Given the description of an element on the screen output the (x, y) to click on. 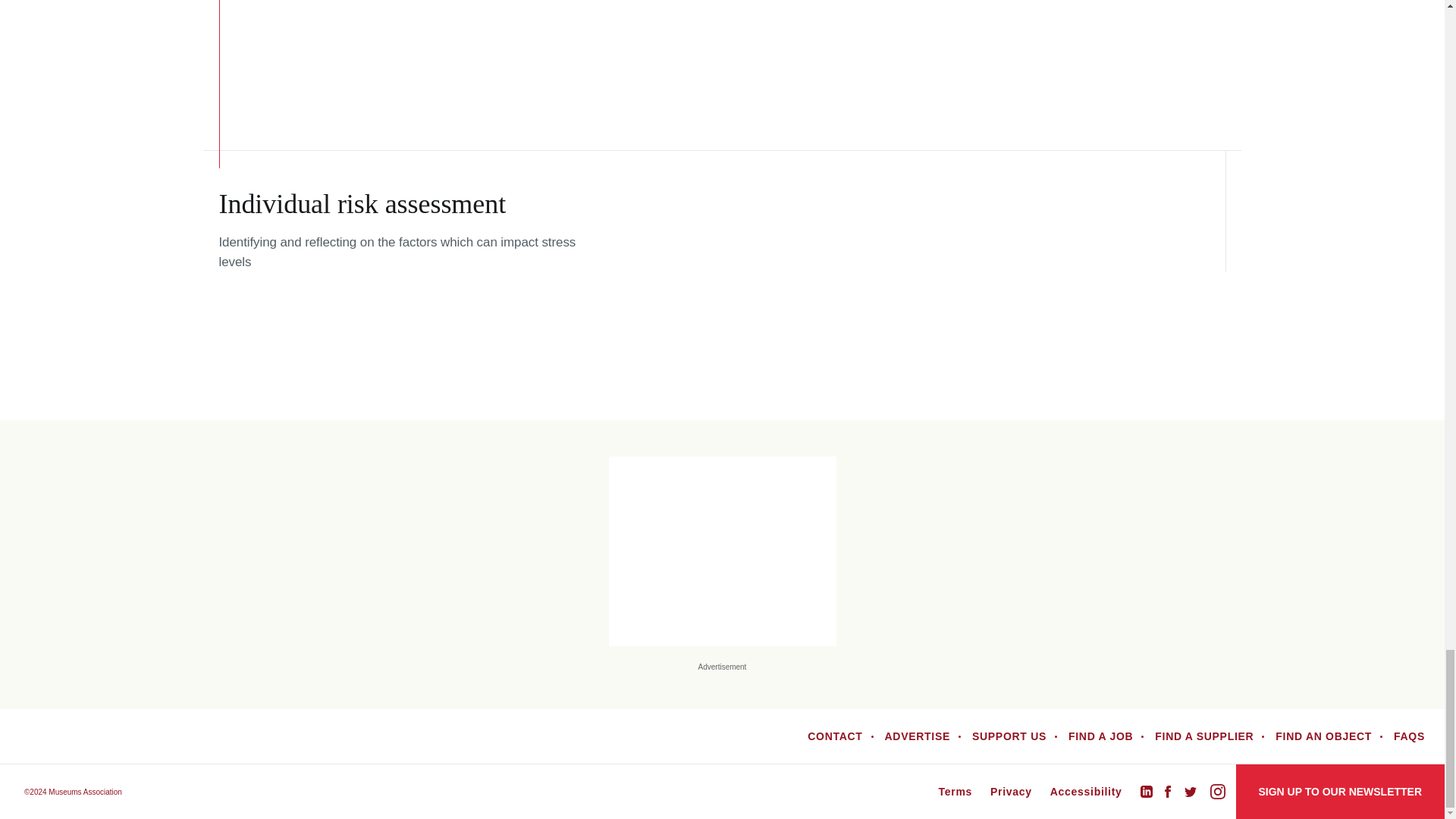
Twitter (1189, 791)
Instagram (1217, 791)
LinkedIn (1146, 791)
Facebook (1167, 791)
